Given the description of an element on the screen output the (x, y) to click on. 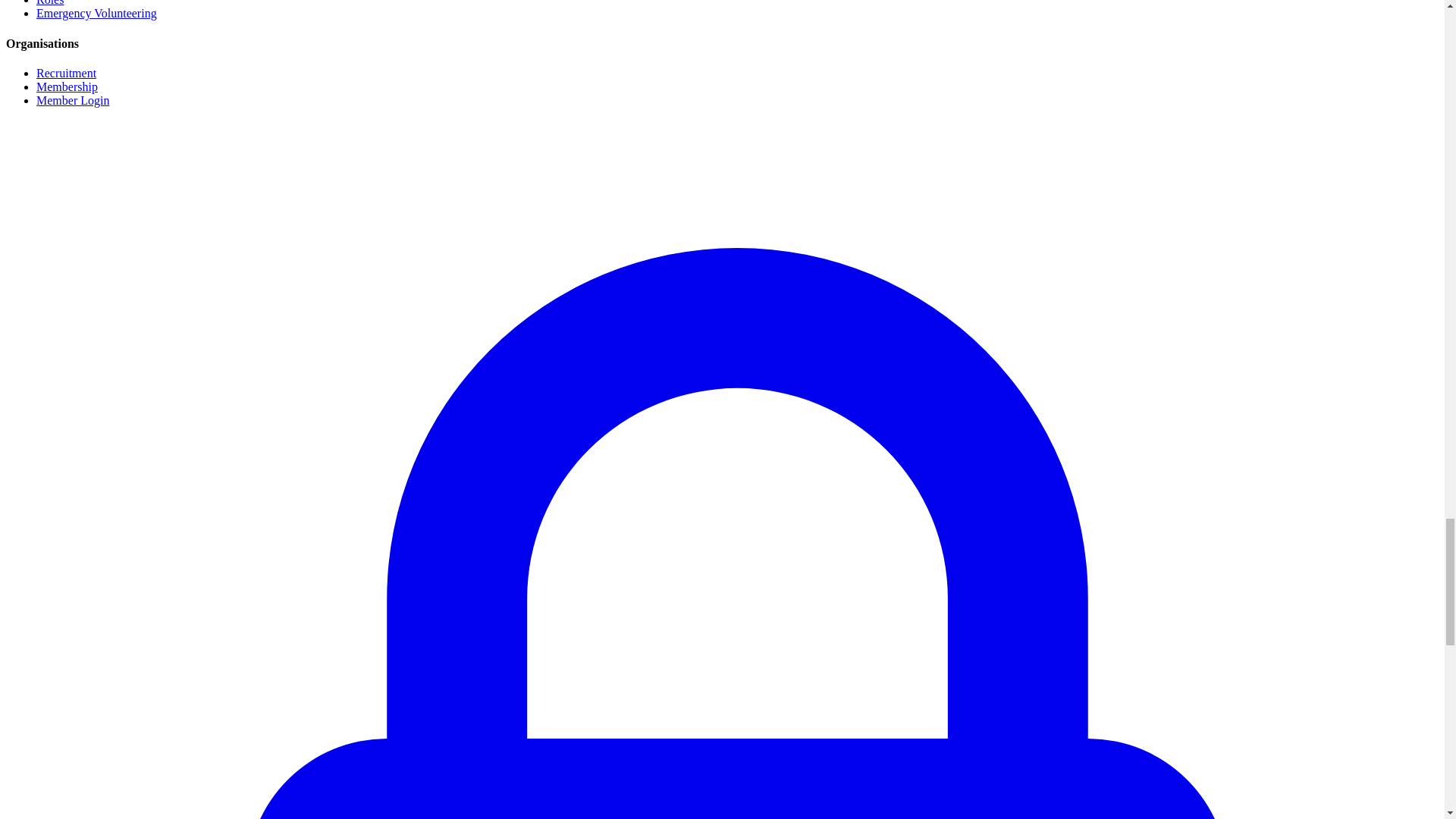
Membership (66, 86)
Emergency Volunteering (96, 12)
Roles (50, 2)
Recruitment (66, 72)
